Given the description of an element on the screen output the (x, y) to click on. 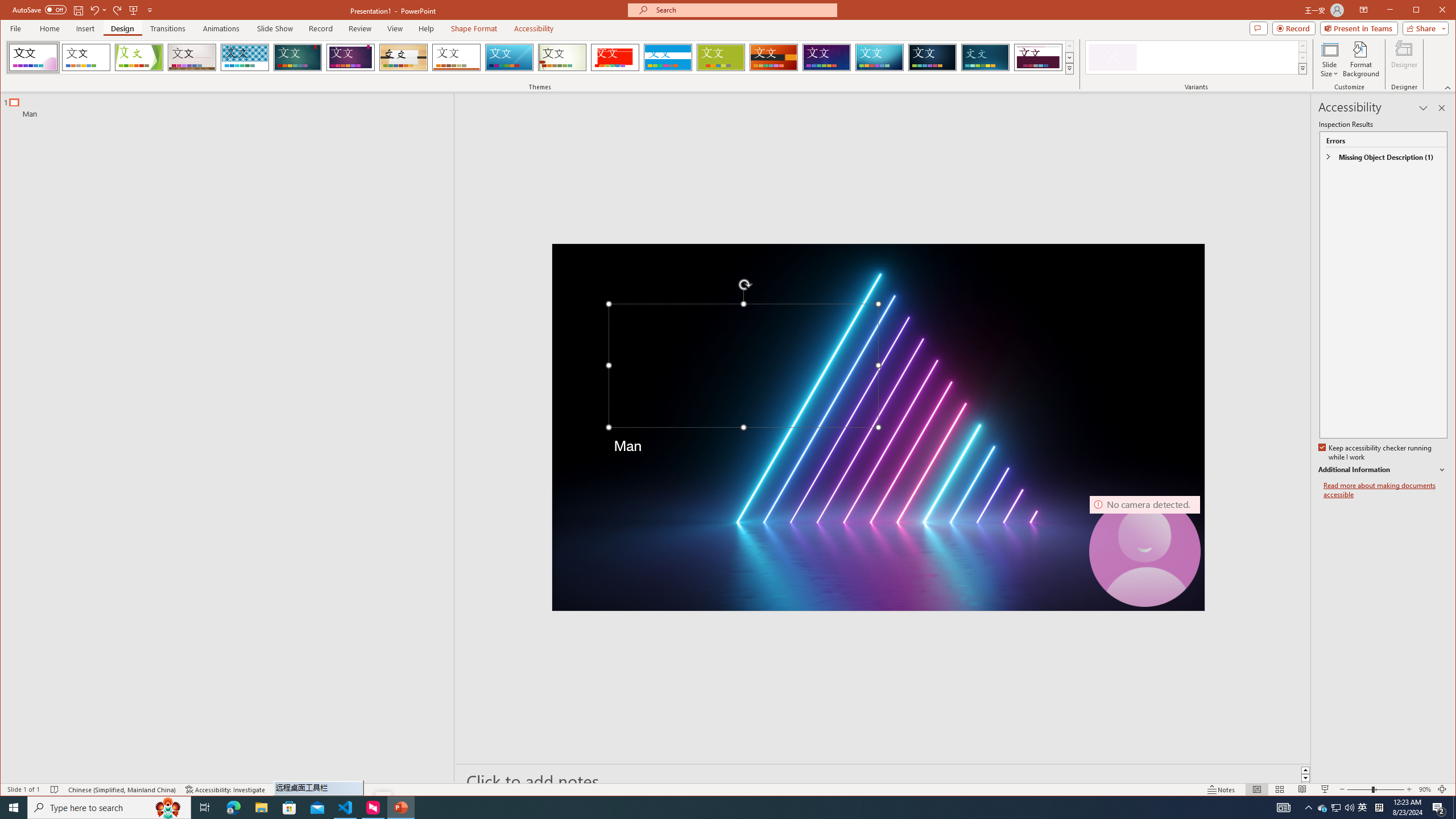
SwellVTI (33, 57)
Organic (403, 57)
